Given the description of an element on the screen output the (x, y) to click on. 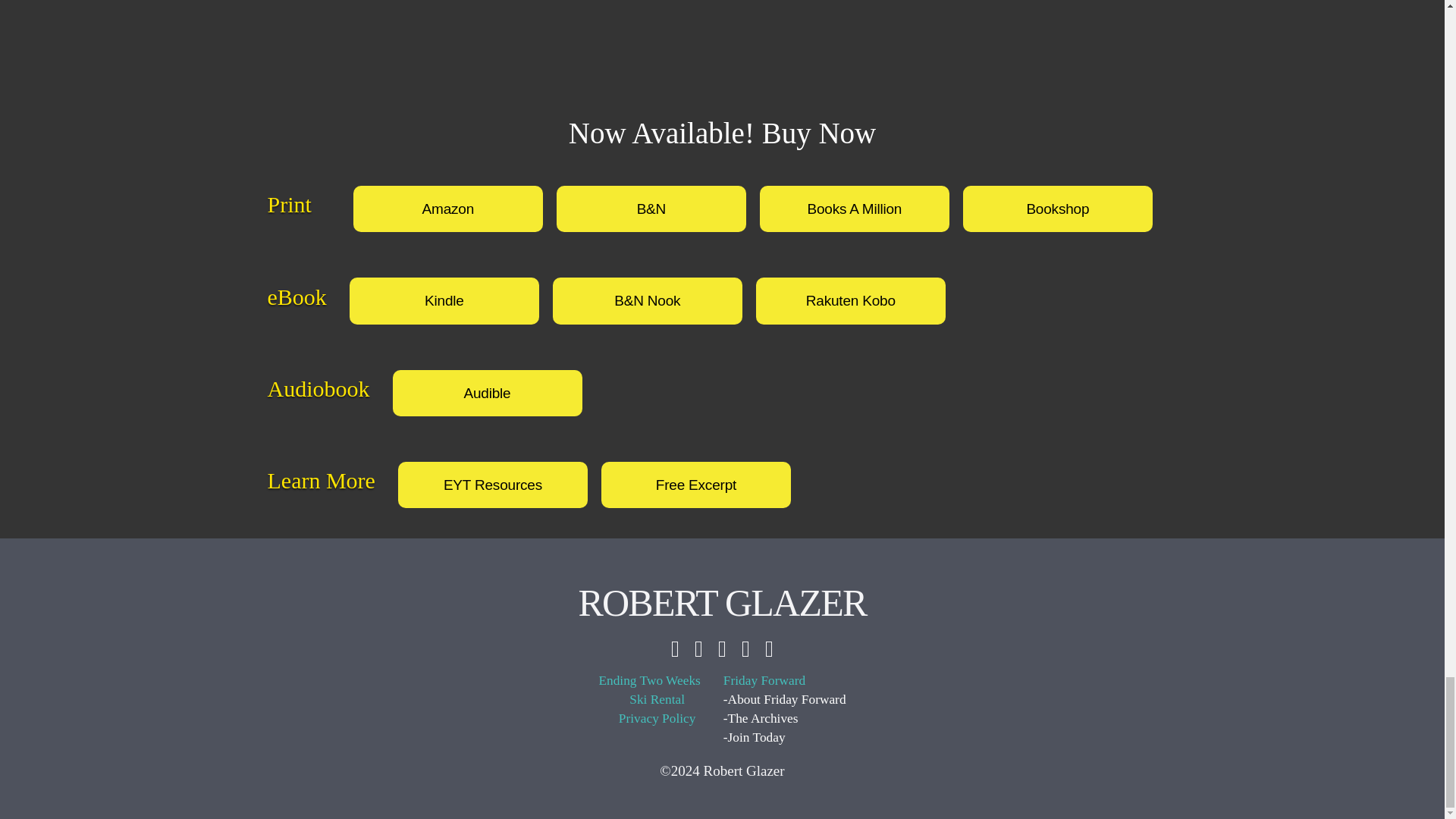
Kindle (443, 300)
Rakuten Kobo (849, 300)
Ending Two Weeks (649, 681)
Ski Rental (656, 700)
-The Archives (784, 719)
-Join Today (784, 737)
EYT Resources (492, 484)
Amazon (448, 208)
Free Excerpt (695, 484)
Bookshop (1057, 208)
